Given the description of an element on the screen output the (x, y) to click on. 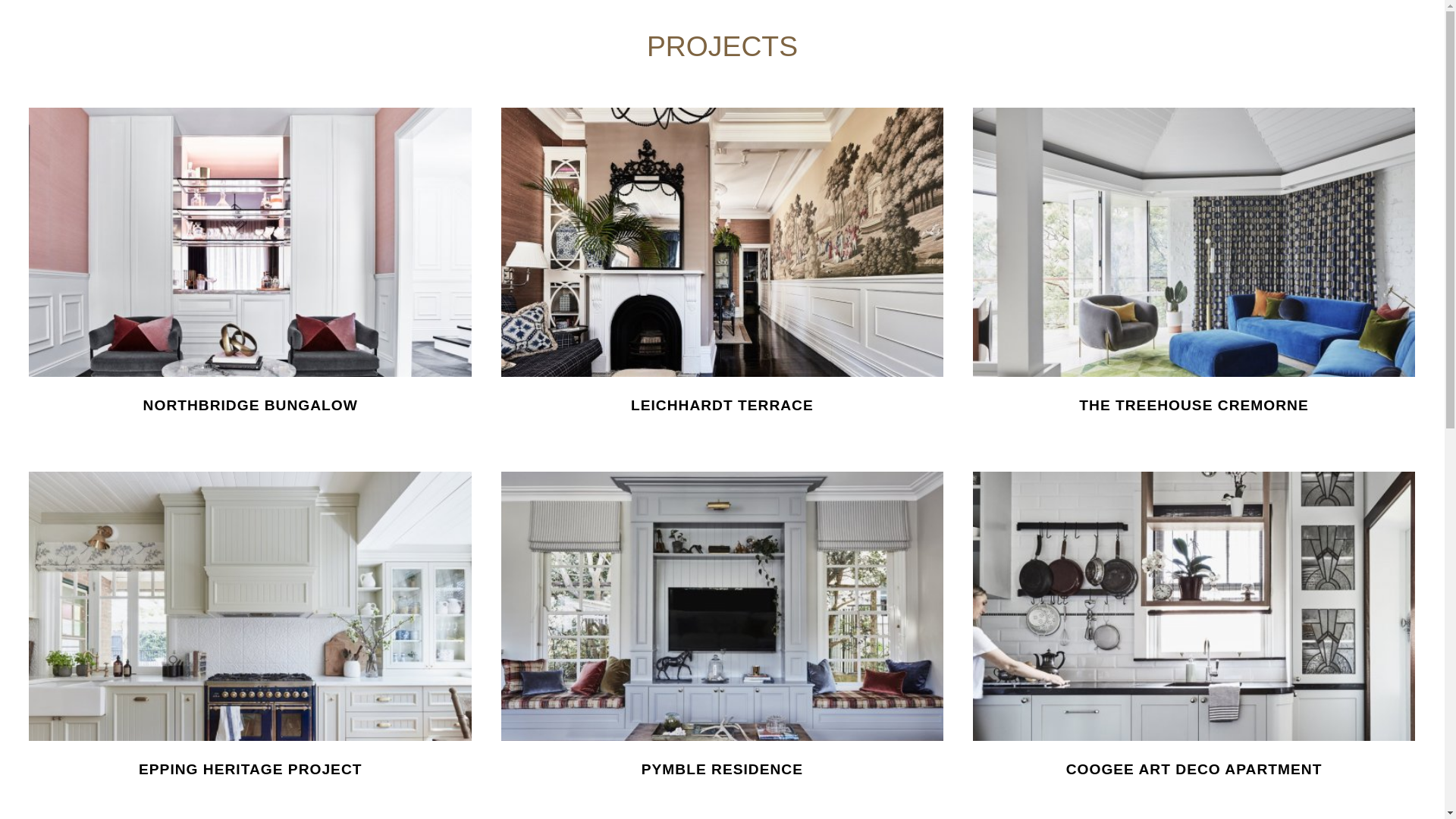
PYMBLE RESIDENCE Element type: text (722, 638)
EPPING HERITAGE PROJECT Element type: text (249, 638)
LEICHHARDT TERRACE Element type: text (722, 274)
COOGEE ART DECO APARTMENT Element type: text (1193, 638)
THE TREEHOUSE CREMORNE Element type: text (1193, 274)
NORTHBRIDGE BUNGALOW Element type: text (249, 274)
